Given the description of an element on the screen output the (x, y) to click on. 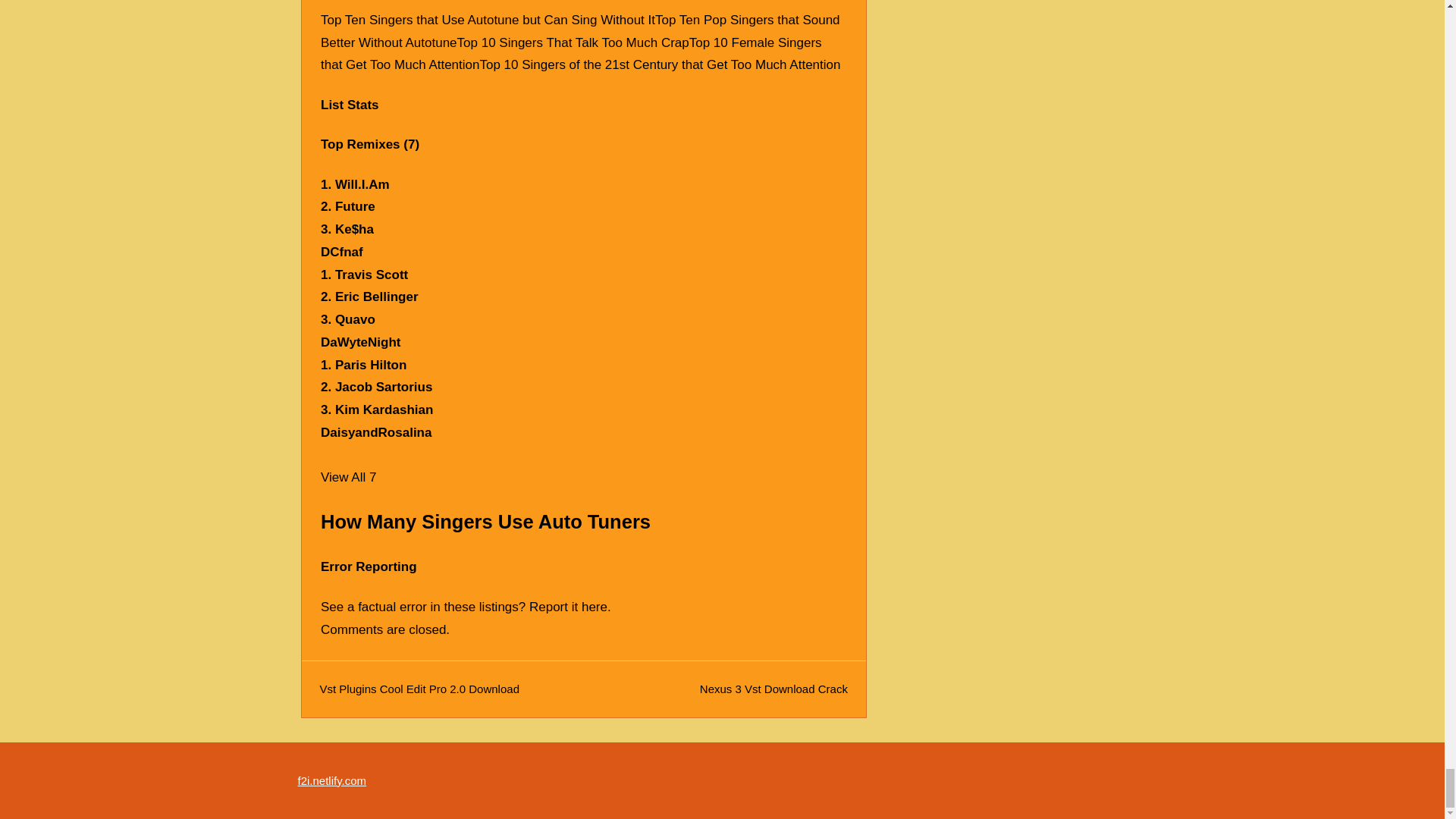
Vst Plugins Cool Edit Pro 2.0 Download (419, 688)
Nexus 3 Vst Download Crack (773, 688)
Comments are closed. (384, 629)
f2i.netlify.com (331, 780)
f2i.netlify.com (331, 780)
